Given the description of an element on the screen output the (x, y) to click on. 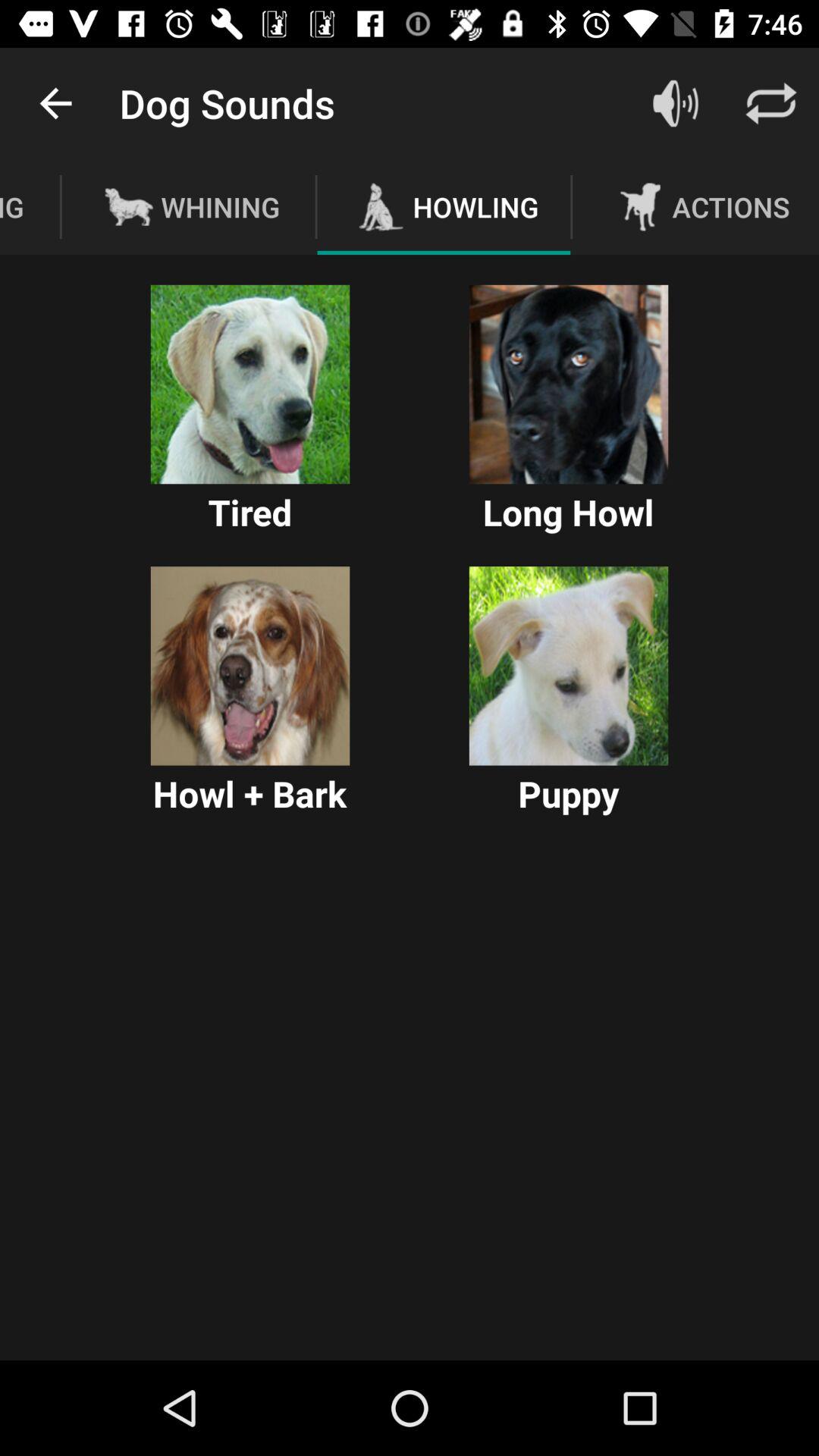
play sounds (675, 103)
